Given the description of an element on the screen output the (x, y) to click on. 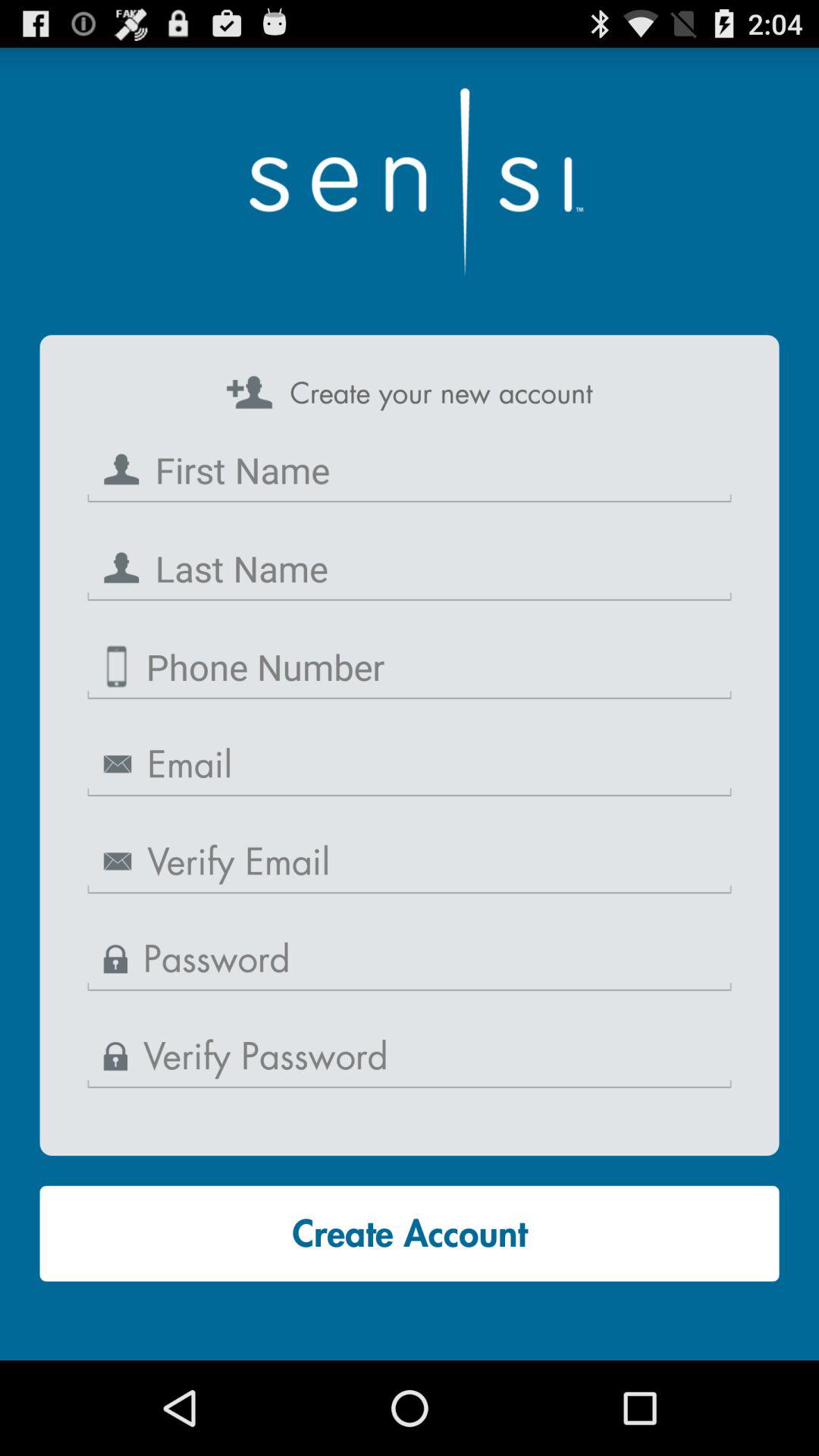
last name input (409, 569)
